Given the description of an element on the screen output the (x, y) to click on. 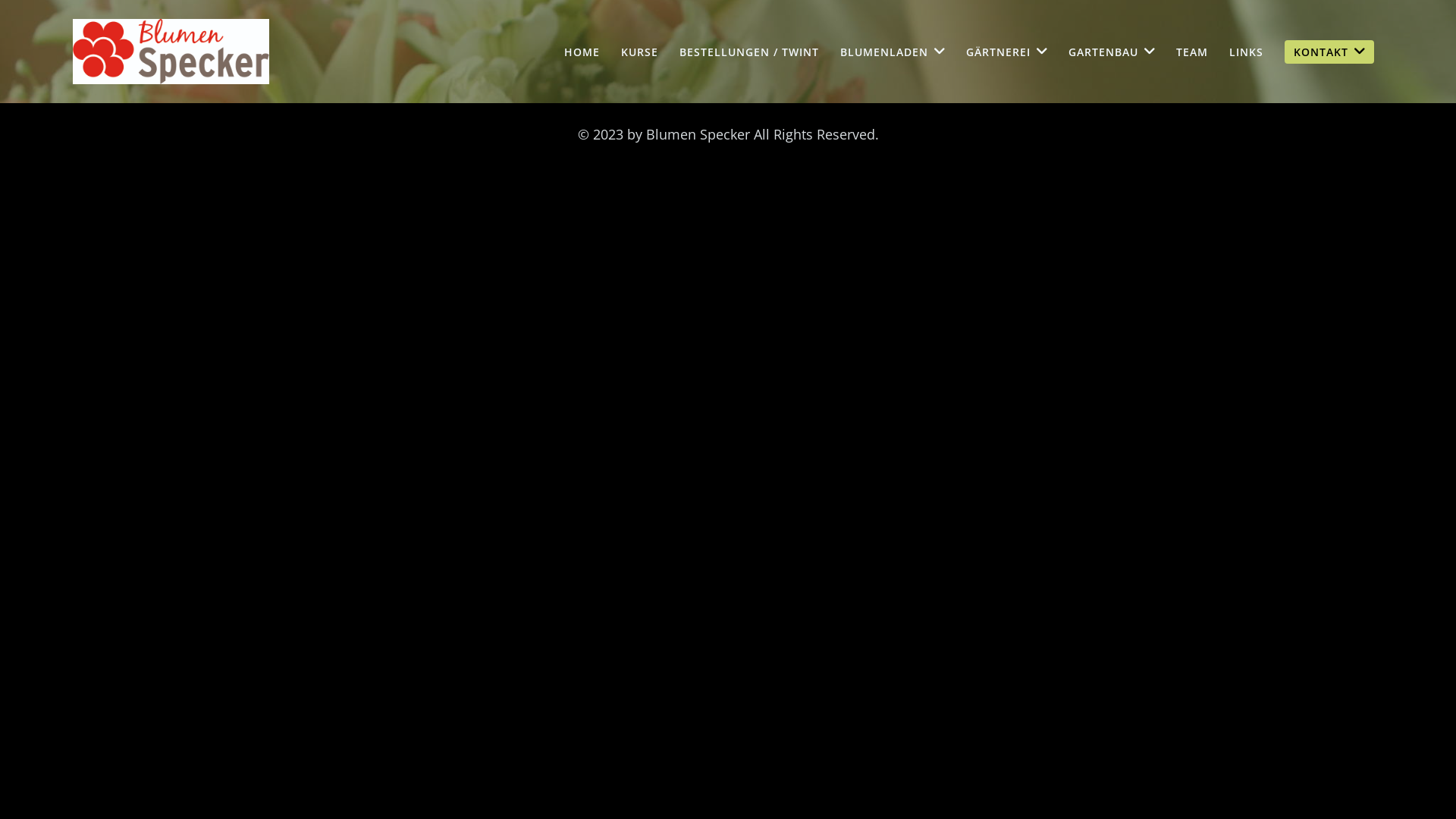
TEAM Element type: text (1192, 51)
HOME Element type: text (581, 51)
KURSE Element type: text (639, 51)
LINKS Element type: text (1246, 51)
BESTELLUNGEN / TWINT Element type: text (749, 51)
